Given the description of an element on the screen output the (x, y) to click on. 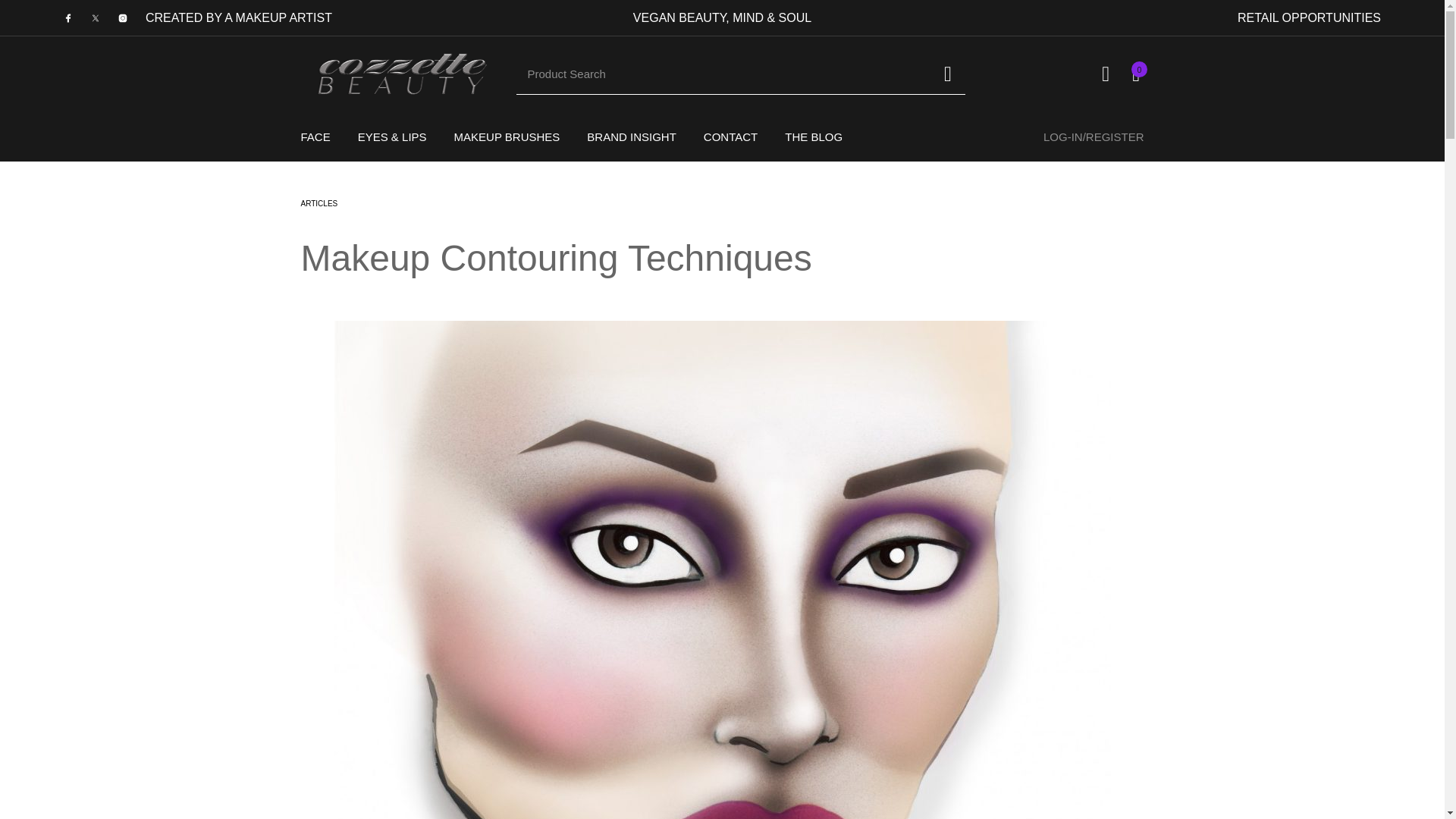
CONTACT (730, 137)
BRAND INSIGHT (631, 137)
MAKEUP BRUSHES (507, 137)
THE BLOG (813, 137)
FACE (314, 137)
Cozzette Beauty (398, 73)
RETAIL OPPORTUNITIES (1308, 18)
